Given the description of an element on the screen output the (x, y) to click on. 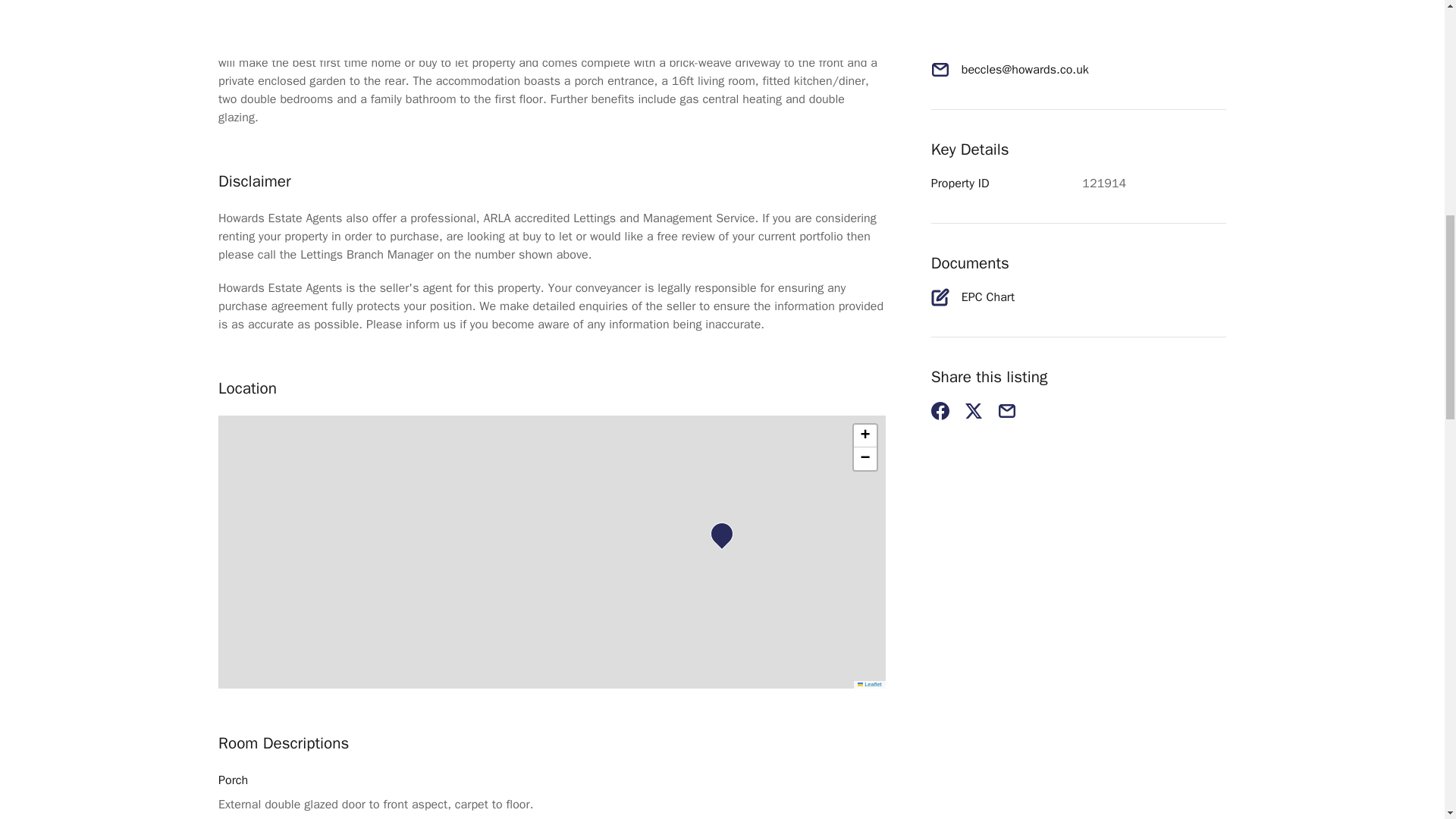
A JavaScript library for interactive maps (869, 683)
EPC Chart (987, 297)
Zoom in (864, 436)
Leaflet (869, 683)
Zoom out (864, 458)
01502 714500 (1002, 44)
